Given the description of an element on the screen output the (x, y) to click on. 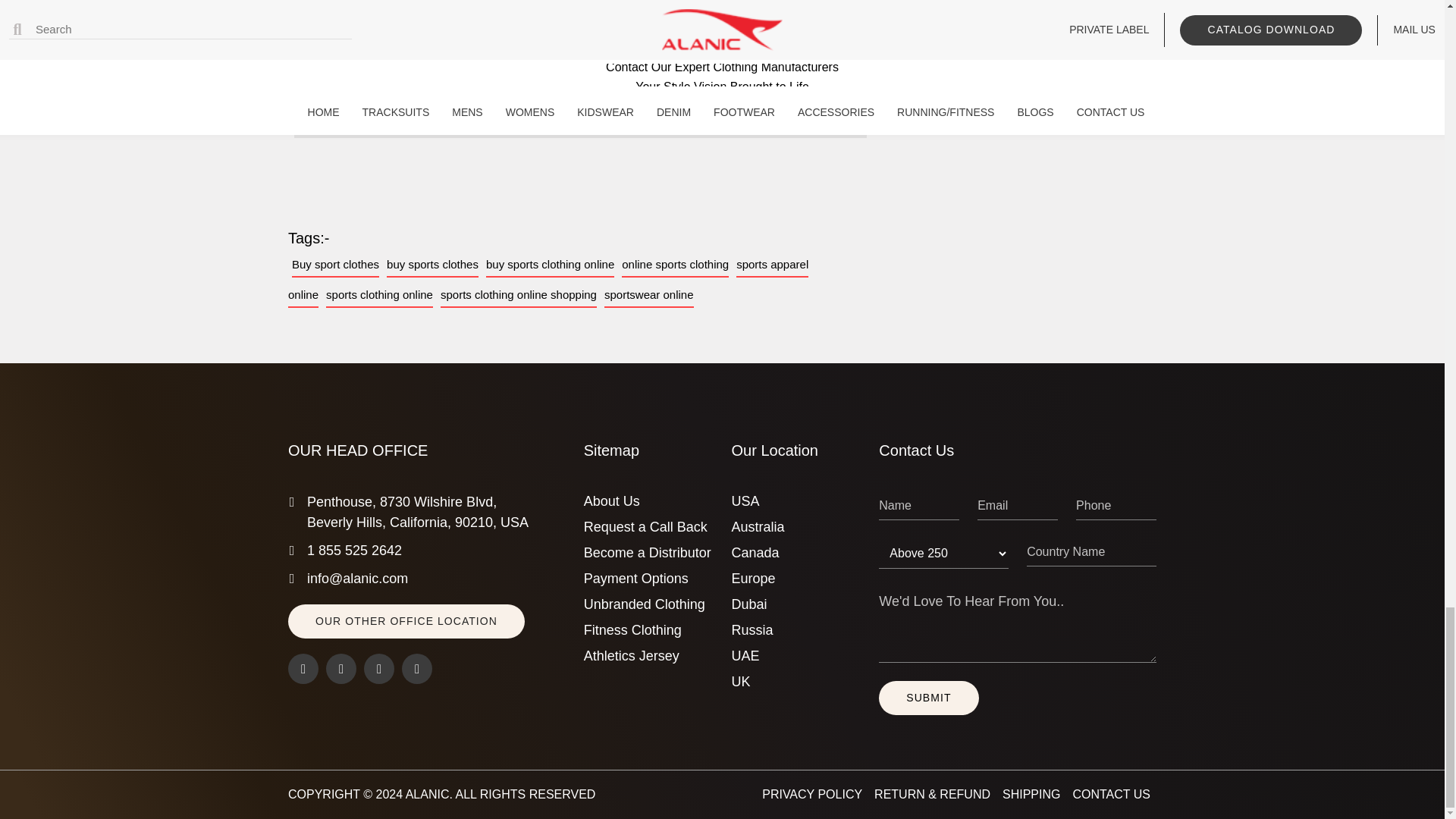
buy sports clothing online (550, 264)
online sports clothing (675, 264)
Buy sport clothes (335, 264)
sportswear online (649, 294)
sports clothing online shopping (518, 294)
sports apparel online (548, 279)
Alanic Wholesale Clothing (427, 793)
Submit (928, 697)
buy sports clothes (433, 264)
sports clothing online (379, 294)
